Given the description of an element on the screen output the (x, y) to click on. 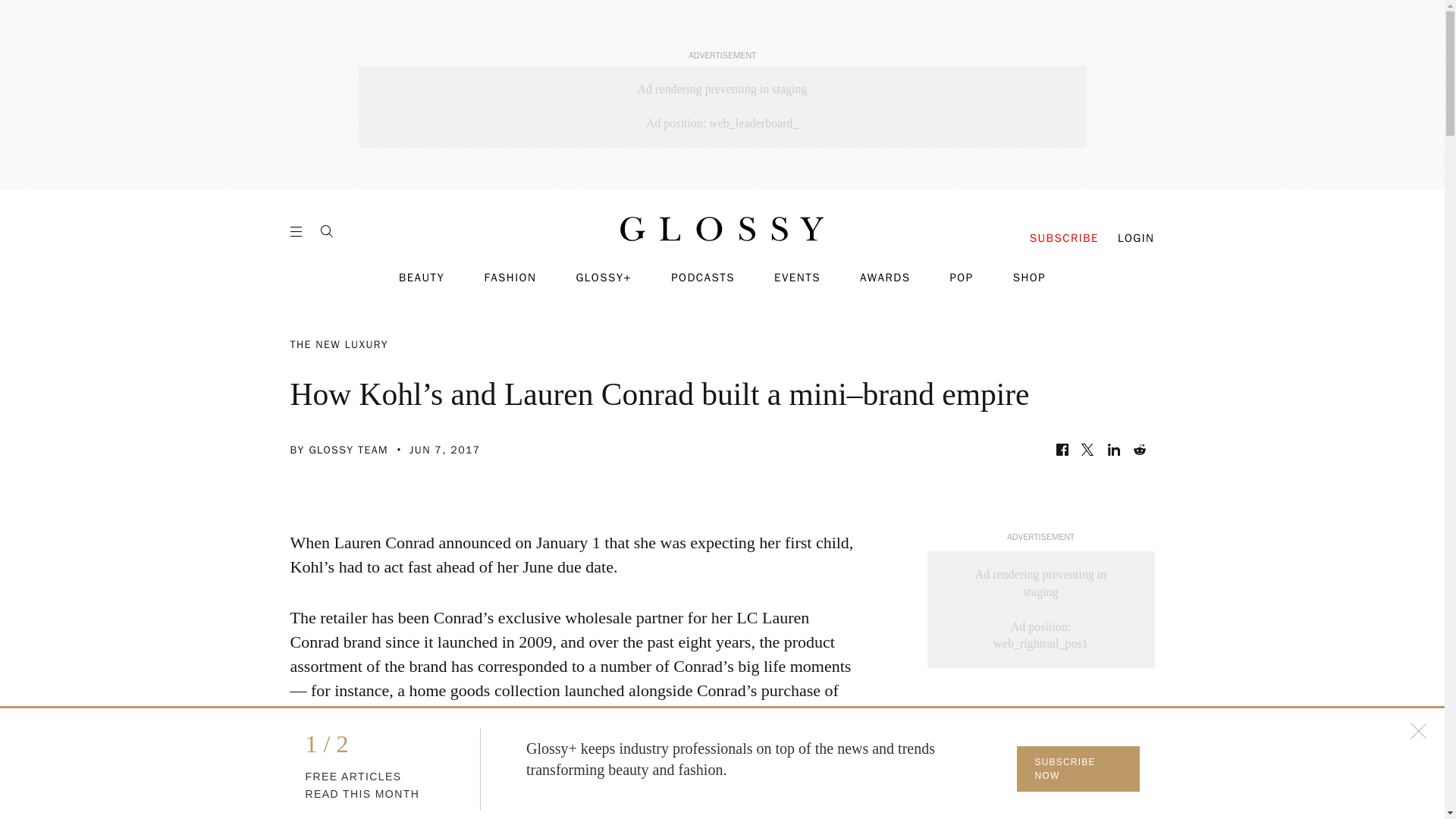
POP (960, 277)
BEAUTY (421, 277)
PODCASTS (703, 277)
FASHION (509, 277)
EVENTS (797, 277)
SHOP (1029, 277)
LOGIN (1136, 238)
AWARDS (885, 277)
SUBSCRIBE (1064, 238)
